Given the description of an element on the screen output the (x, y) to click on. 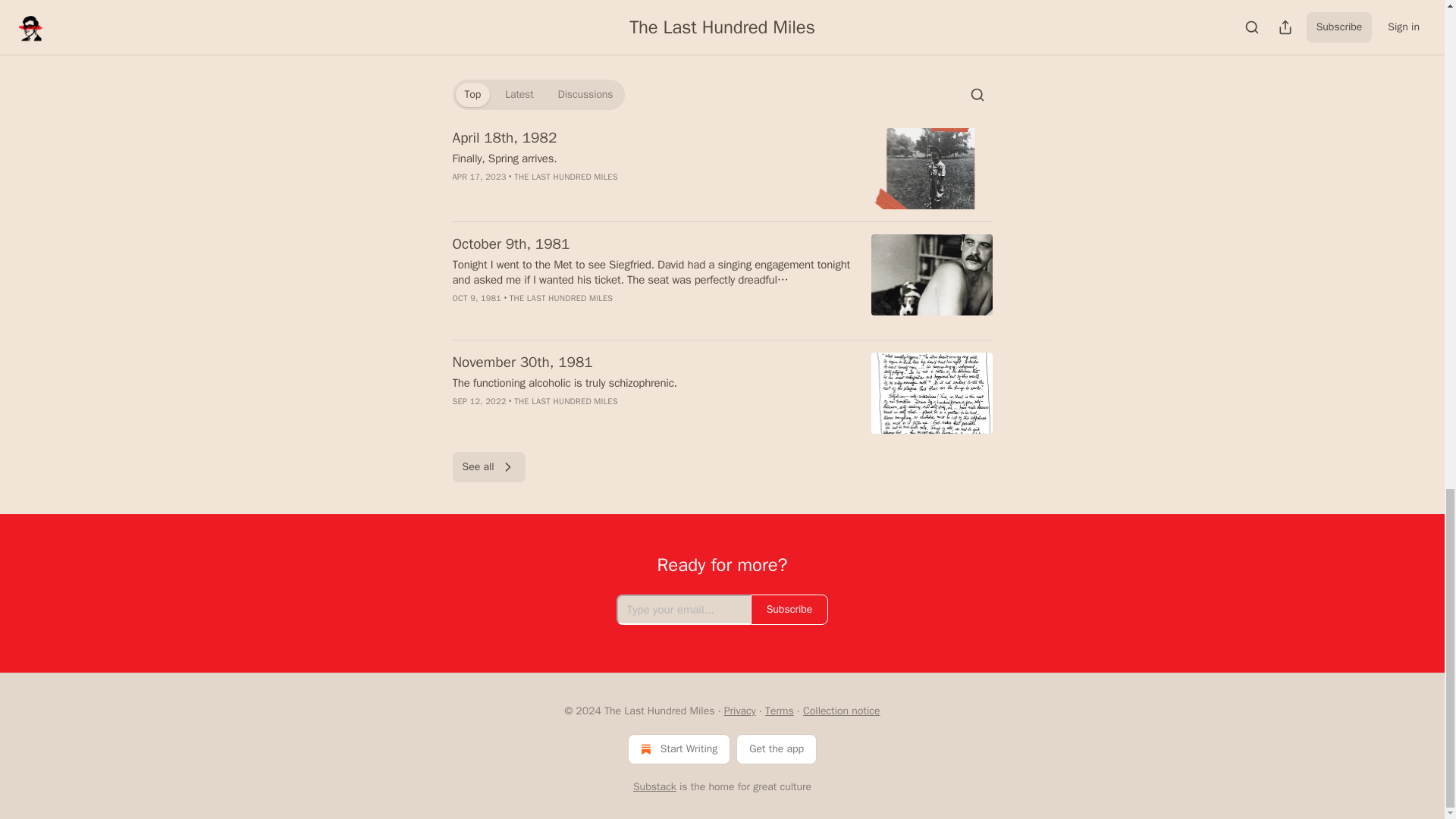
Discussions (585, 94)
Finally, Spring arrives. (651, 158)
THE LAST HUNDRED MILES (565, 176)
Latest (518, 94)
April 18th, 1982 (651, 137)
Top (471, 94)
